Given the description of an element on the screen output the (x, y) to click on. 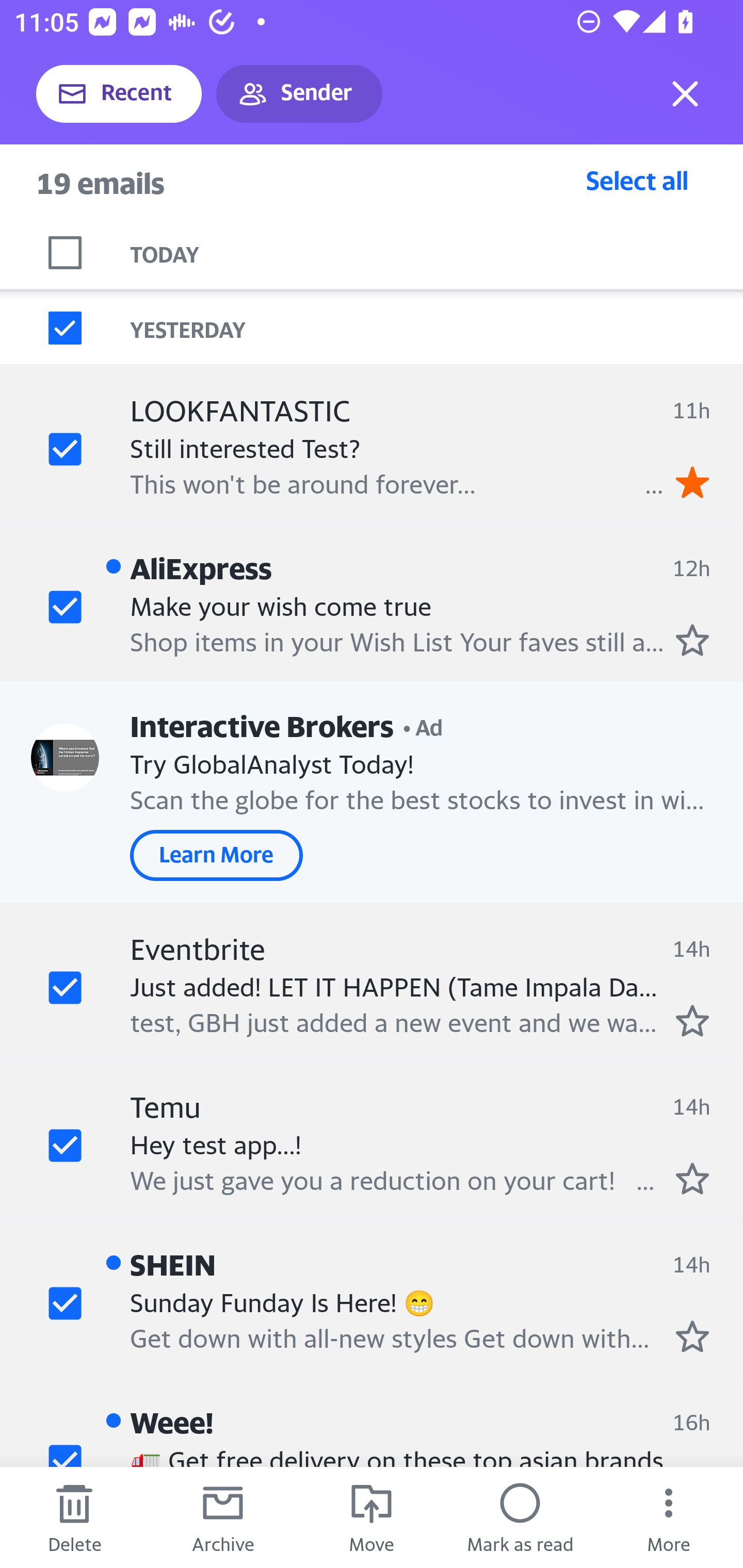
Sender (299, 93)
Exit selection mode (684, 93)
Select all (637, 180)
YESTERDAY (436, 328)
Remove star. (692, 482)
Mark as starred. (692, 640)
Mark as starred. (692, 1019)
Mark as starred. (692, 1178)
Mark as starred. (692, 1336)
Delete (74, 1517)
Archive (222, 1517)
Move (371, 1517)
Mark as read (519, 1517)
More (668, 1517)
